Given the description of an element on the screen output the (x, y) to click on. 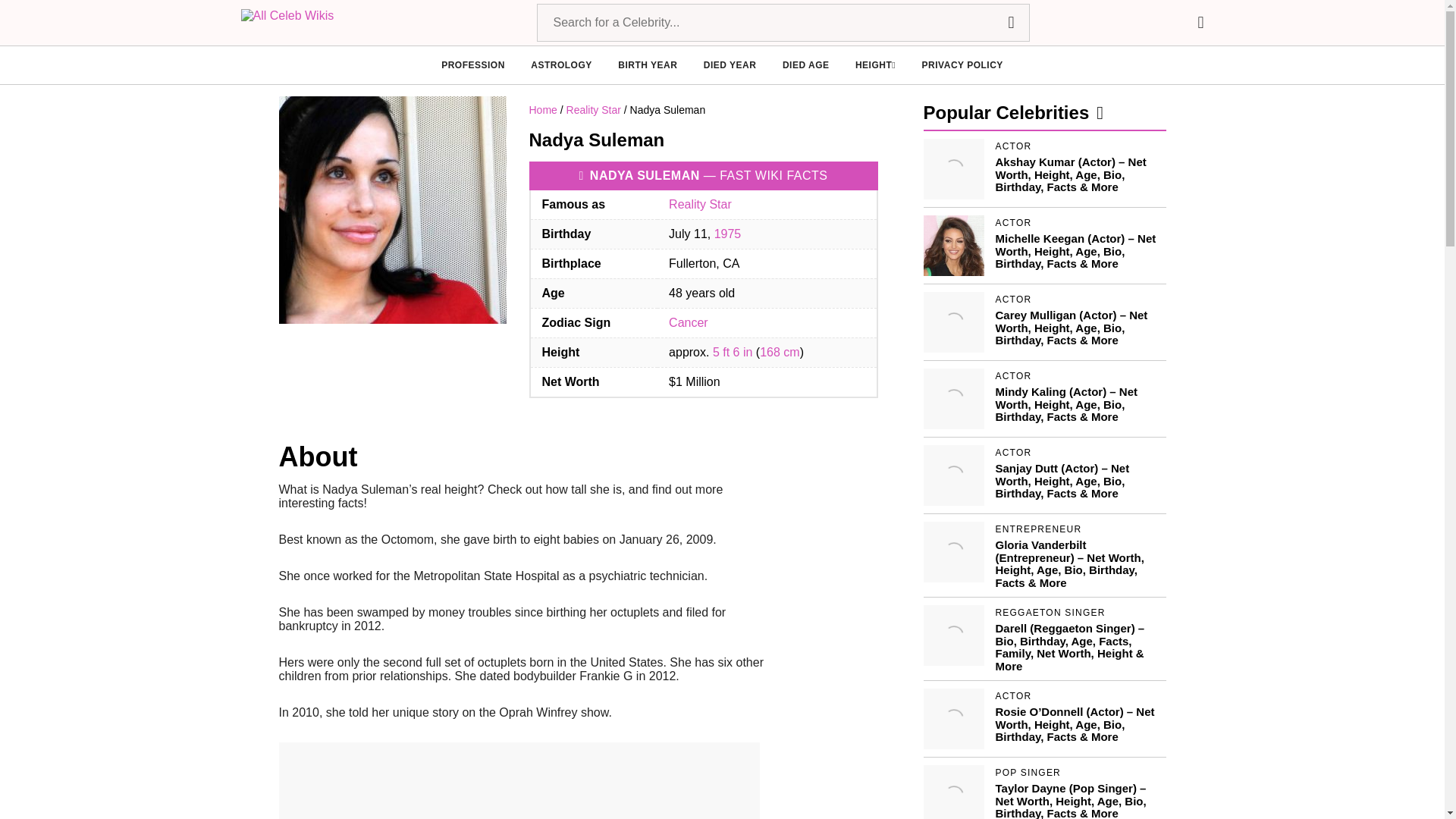
168 cm (779, 351)
DIED AGE (806, 64)
Cancer (687, 322)
DIED YEAR (730, 64)
5 ft 6 in (732, 351)
BIRTH YEAR (647, 64)
1975 (727, 233)
ASTROLOGY (561, 64)
HEIGHT (875, 64)
Home (543, 110)
